Given the description of an element on the screen output the (x, y) to click on. 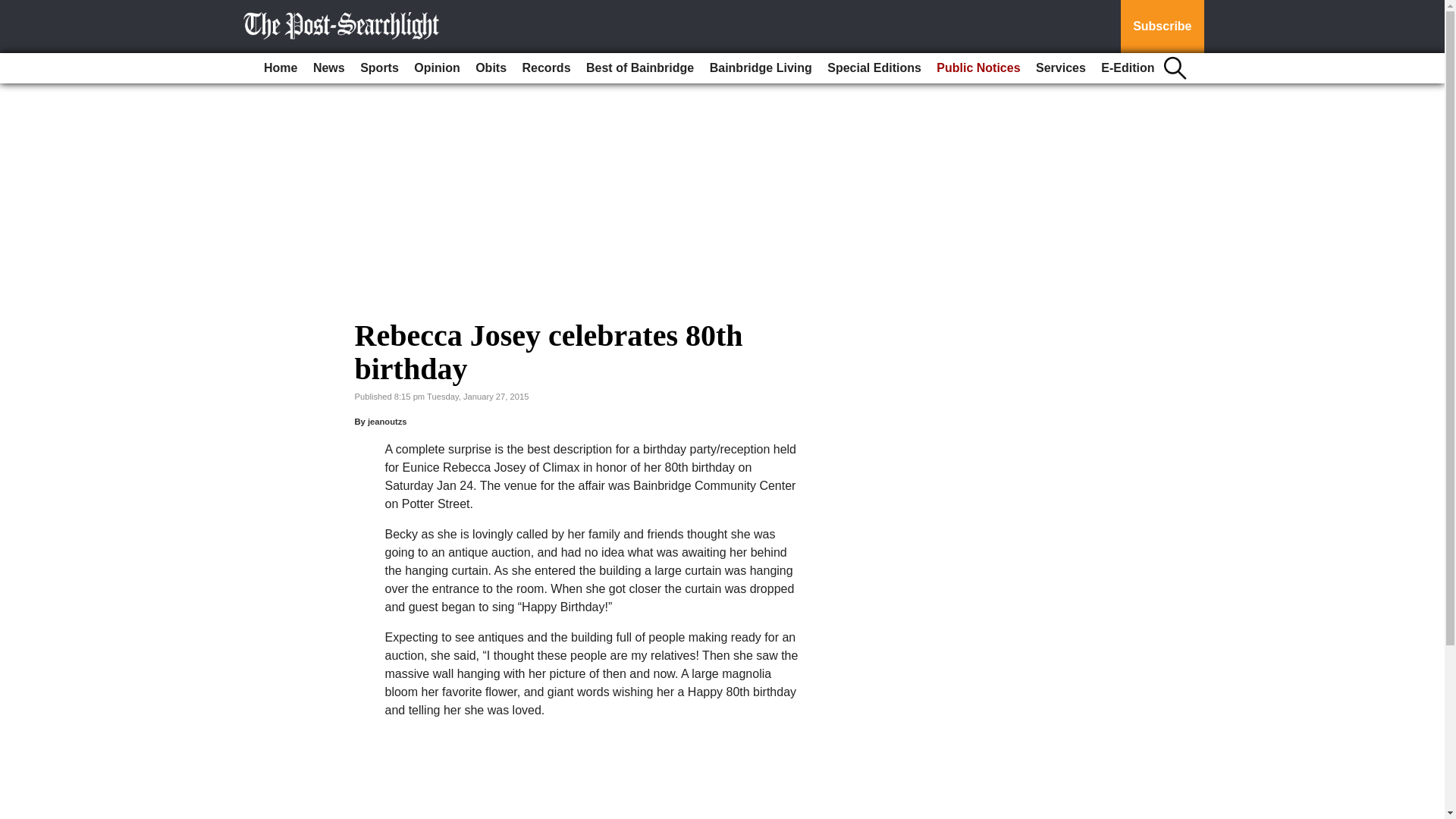
Home (279, 68)
Best of Bainbridge (639, 68)
Public Notices (978, 68)
jeanoutzs (387, 420)
Go (13, 9)
Services (1060, 68)
Opinion (436, 68)
Special Editions (874, 68)
Subscribe (1162, 26)
Obits (490, 68)
